Given the description of an element on the screen output the (x, y) to click on. 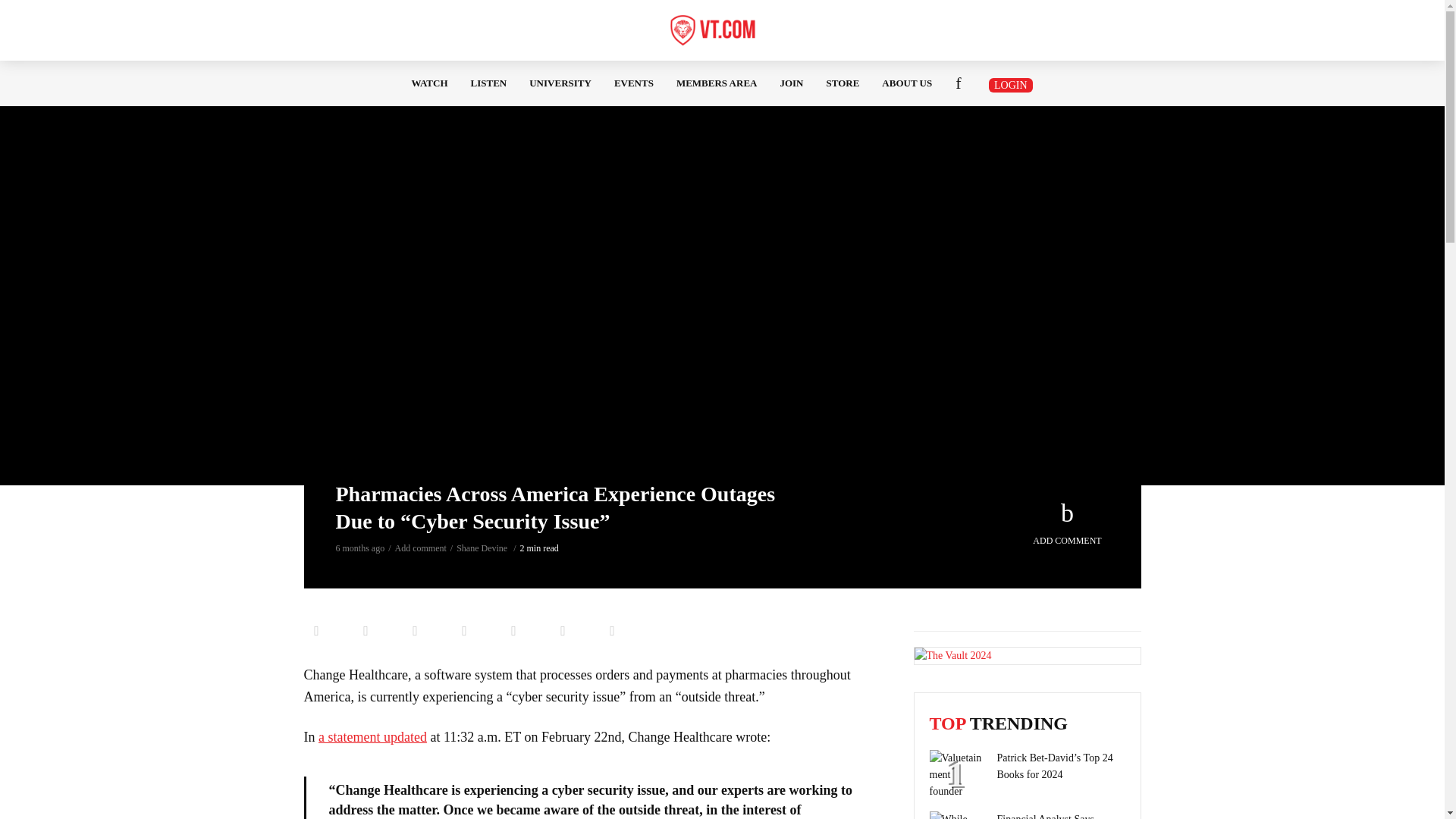
WATCH (428, 83)
ABOUT US (906, 83)
JOIN (790, 83)
STORE (842, 83)
Log In (211, 300)
MEMBERS AREA (716, 83)
EVENTS (633, 83)
LISTEN (489, 83)
UNIVERSITY (560, 83)
